Given the description of an element on the screen output the (x, y) to click on. 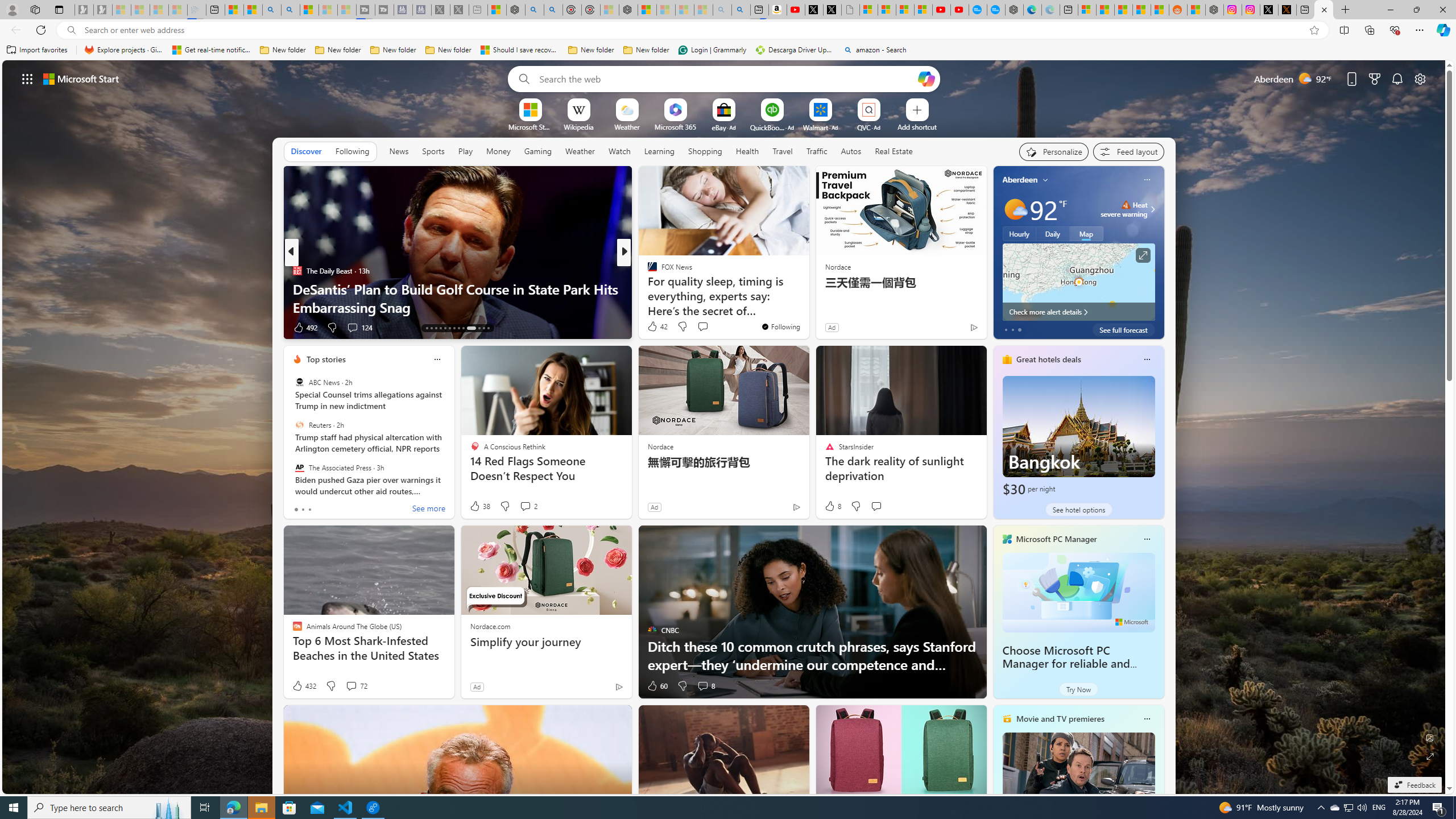
Heat - Severe Heat severe warning (1123, 208)
Edit Background (1430, 737)
Page settings (1420, 78)
Traffic (816, 151)
Reuters (299, 424)
Weather (580, 151)
View comments 4 Comment (702, 327)
New split screen (759, 9)
